Given the description of an element on the screen output the (x, y) to click on. 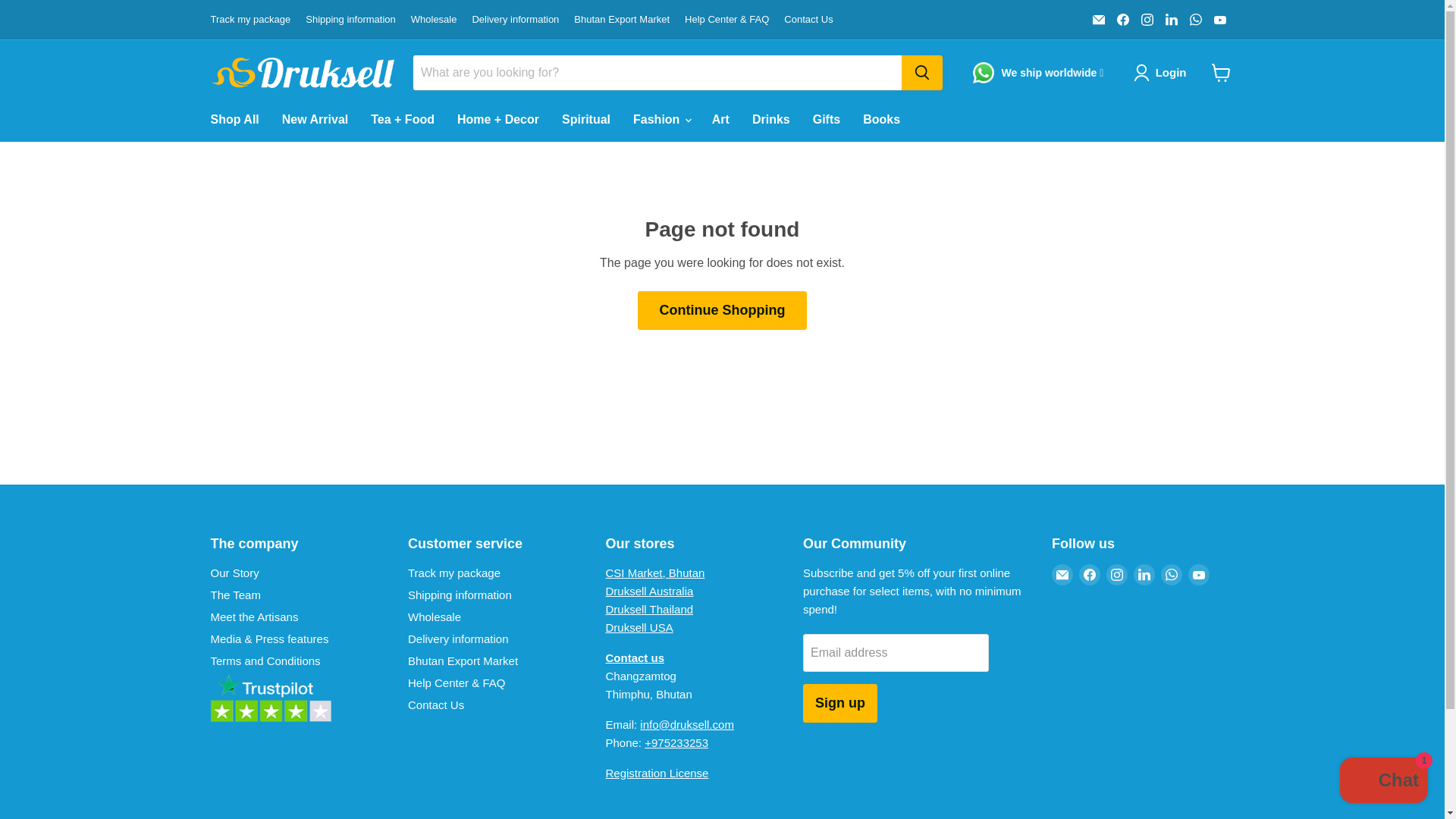
Find us on WhatsApp (1196, 19)
Find us on YouTube (1219, 19)
YouTube (1219, 19)
Bhutan Export Market (621, 19)
Find us on Facebook (1123, 19)
Wholesale (433, 19)
Shipping information (350, 19)
LinkedIn (1171, 19)
View cart (1221, 72)
Shop All (233, 119)
Find us on LinkedIn (1171, 19)
Login (1163, 72)
Email Druksell.com (1098, 19)
Email (1098, 19)
Delivery information (515, 19)
